Given the description of an element on the screen output the (x, y) to click on. 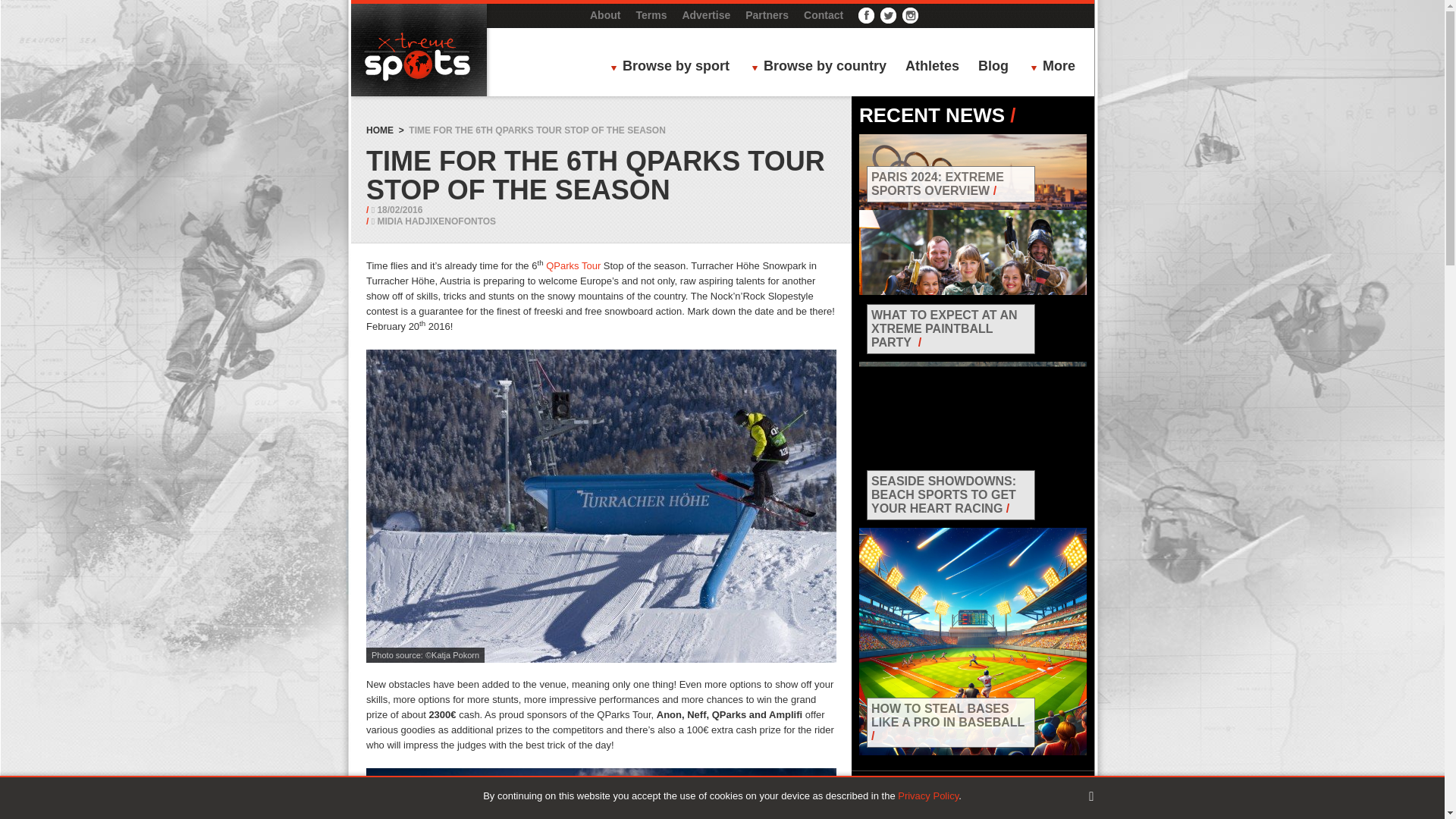
Partners (767, 15)
QParks Tour (575, 265)
About (604, 15)
RECENT NEWS (931, 115)
HOW TO STEAL BASES LIKE A PRO IN BASEBALL (947, 714)
"Time for the 6th QParks Tour Stop of the season" (600, 793)
Terms (650, 15)
WHAT TO EXPECT AT AN XTREME PAINTBALL PARTY  (943, 328)
Advertise (705, 15)
